Given the description of an element on the screen output the (x, y) to click on. 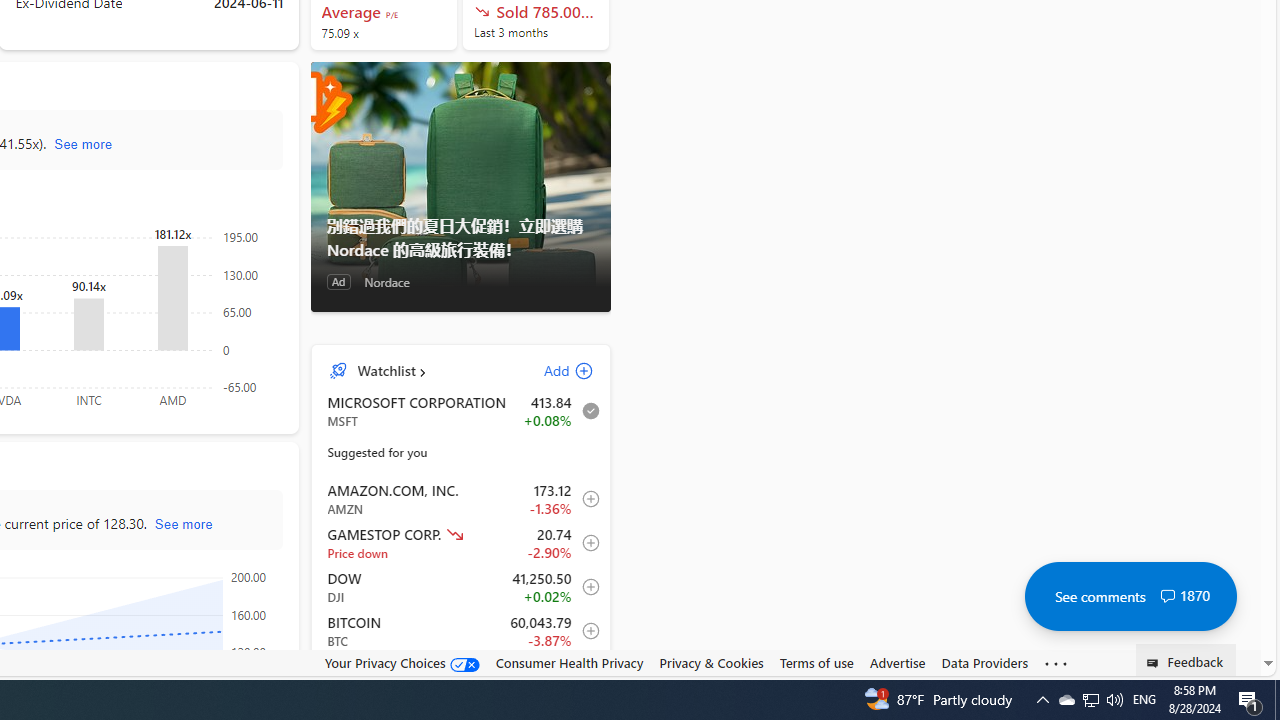
DJI DOW increase 41,250.50 +9.98 +0.02% item2 (461, 587)
Terms of use (816, 662)
Privacy & Cookies (711, 663)
Add to Watchlist (585, 674)
AMZN AMAZON.COM, INC. decrease 173.12 -2.38 -1.36% item0 (461, 498)
Add (551, 370)
Data Providers (983, 663)
Your Privacy Choices (401, 663)
Watchlist (386, 370)
See comments 1870 (1130, 596)
GME GAMESTOP CORP. decrease 20.74 -0.62 -2.90% item1 (461, 543)
Class: feedback_link_icon-DS-EntryPoint1-1 (1156, 663)
